Given the description of an element on the screen output the (x, y) to click on. 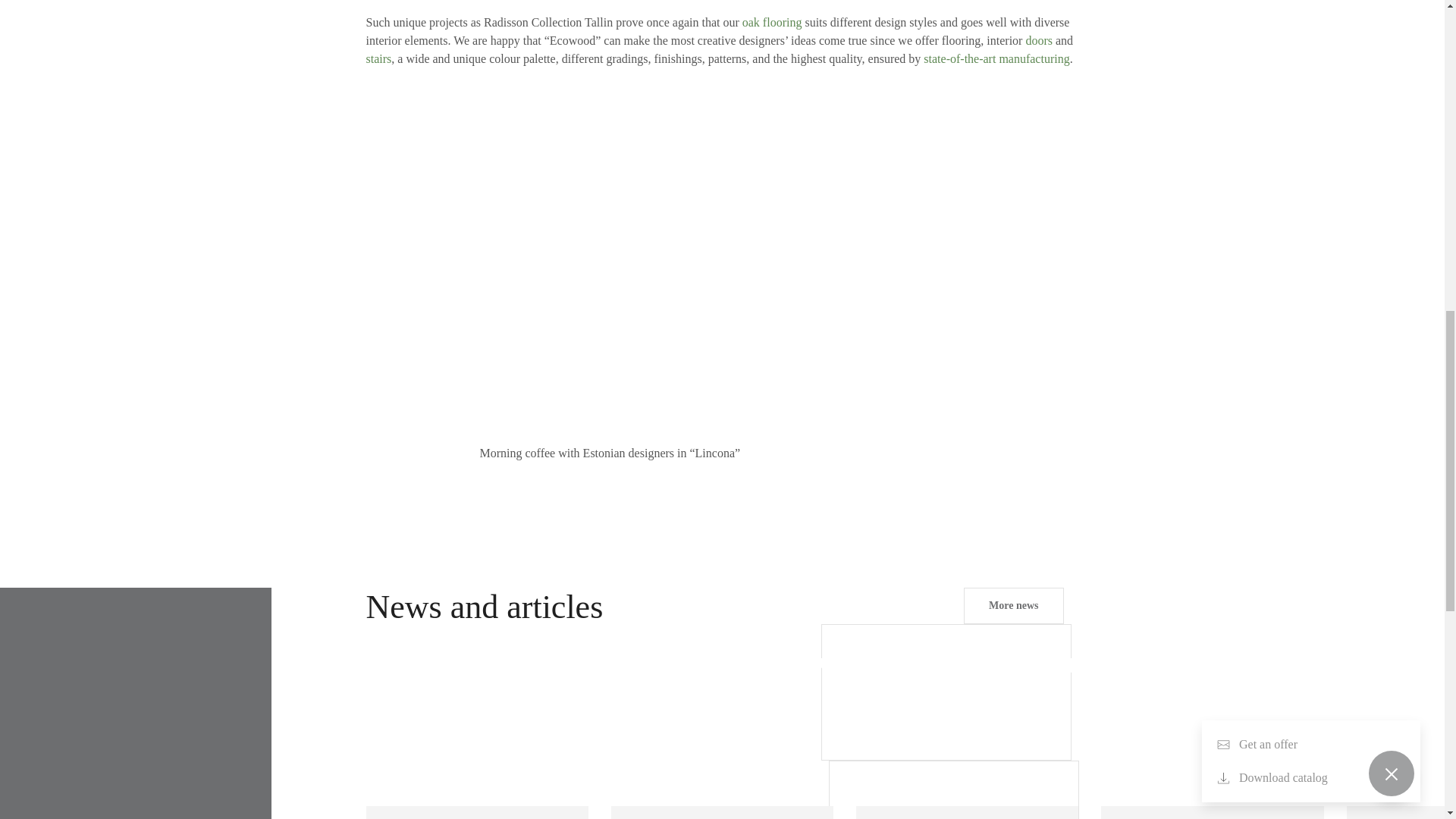
stairs (378, 58)
doors (1038, 40)
oak flooring (772, 21)
state-of-the-art manufacturing (995, 58)
More news (1012, 606)
